Given the description of an element on the screen output the (x, y) to click on. 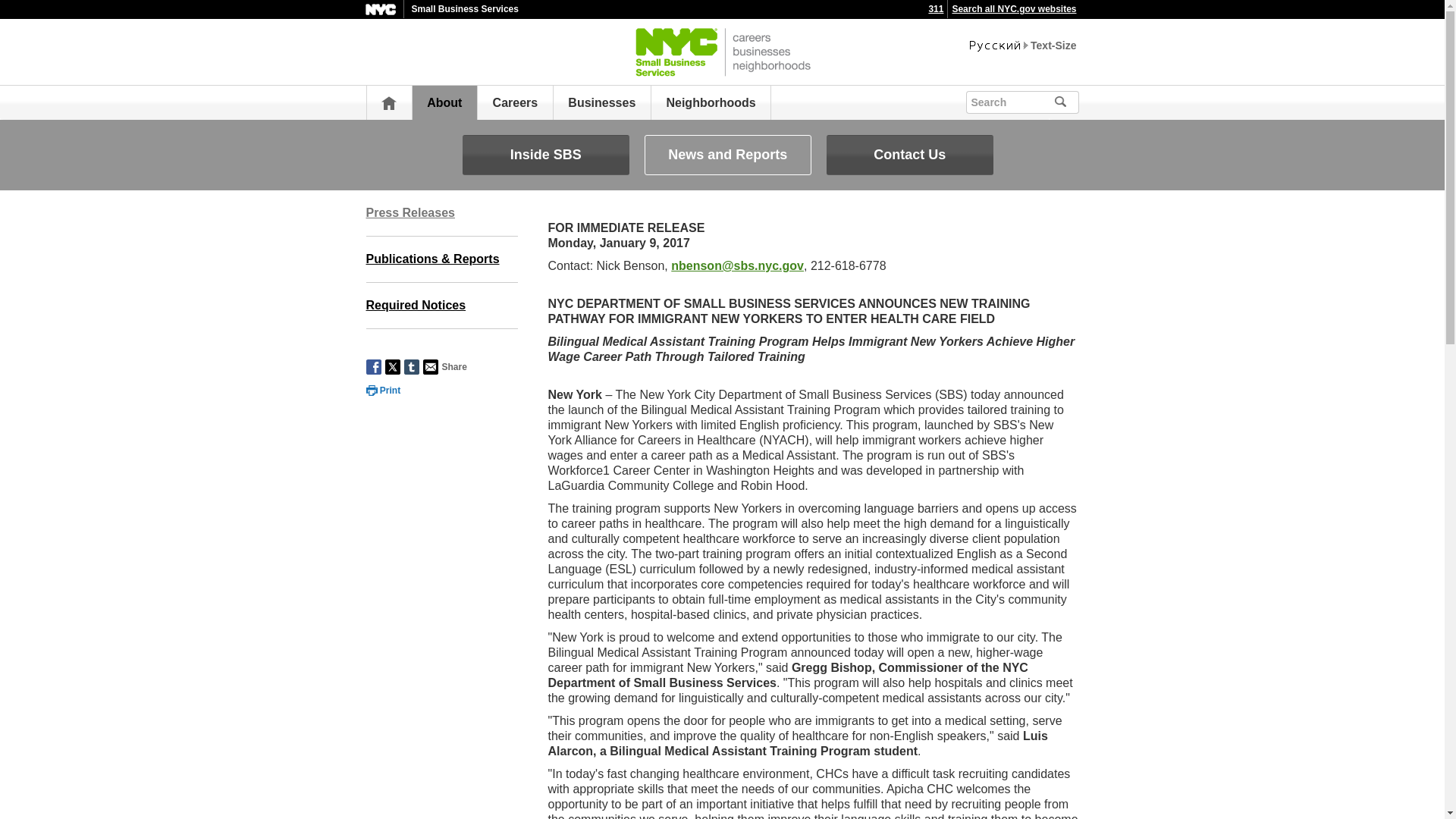
Press Releases (440, 213)
Businesses (600, 102)
Careers (515, 102)
About (443, 102)
search (1081, 100)
Search all NYC.gov websites (1013, 9)
Required Notices (440, 305)
311 (935, 9)
Neighborhoods (710, 102)
Text-Size (1052, 45)
